Given the description of an element on the screen output the (x, y) to click on. 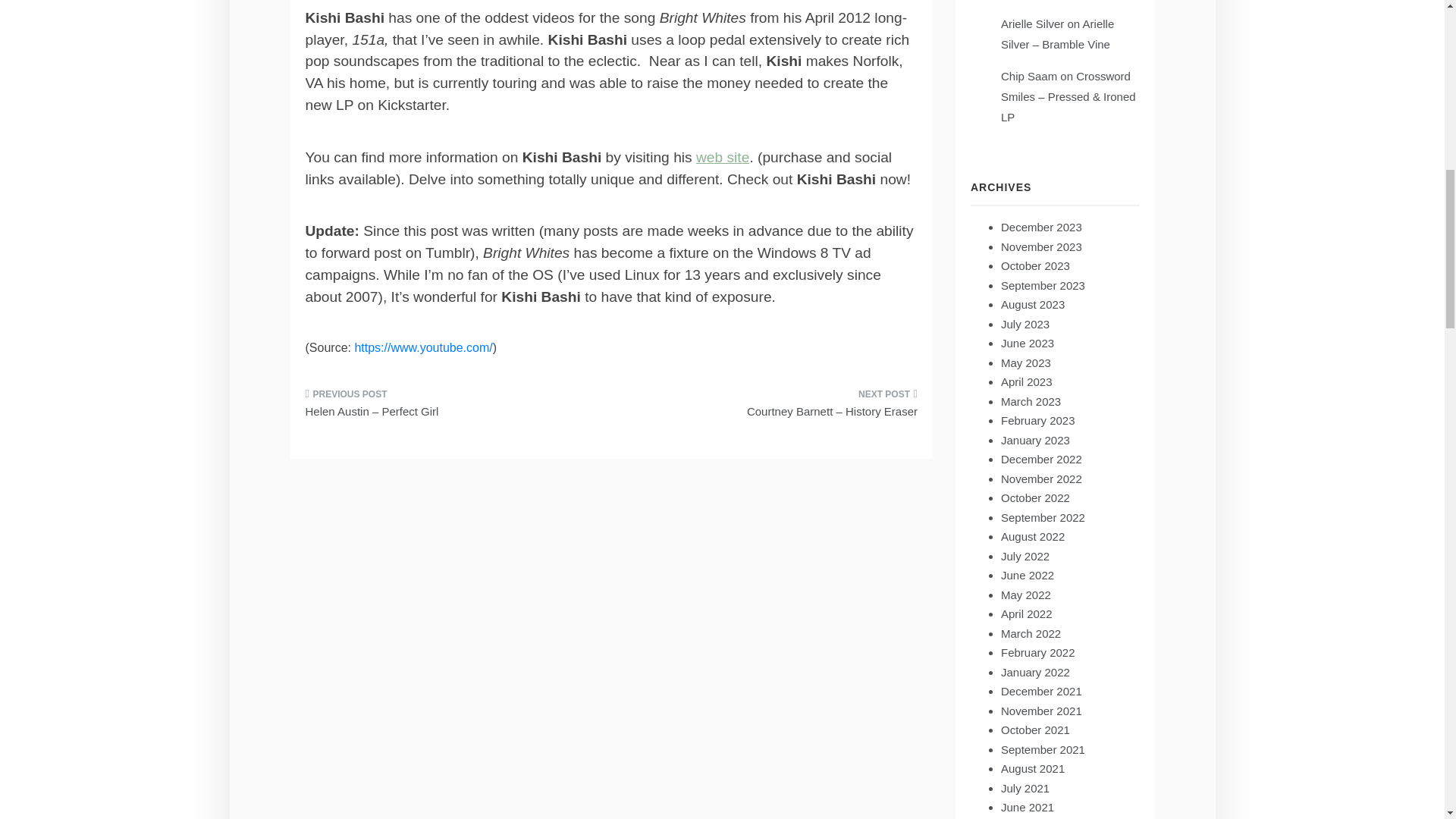
Arielle Silver (1032, 23)
July 2023 (1025, 323)
June 2023 (1027, 342)
March 2023 (1031, 400)
September 2023 (1042, 285)
August 2023 (1032, 304)
December 2023 (1041, 226)
November 2023 (1041, 246)
April 2023 (1026, 381)
October 2023 (1035, 265)
